Given the description of an element on the screen output the (x, y) to click on. 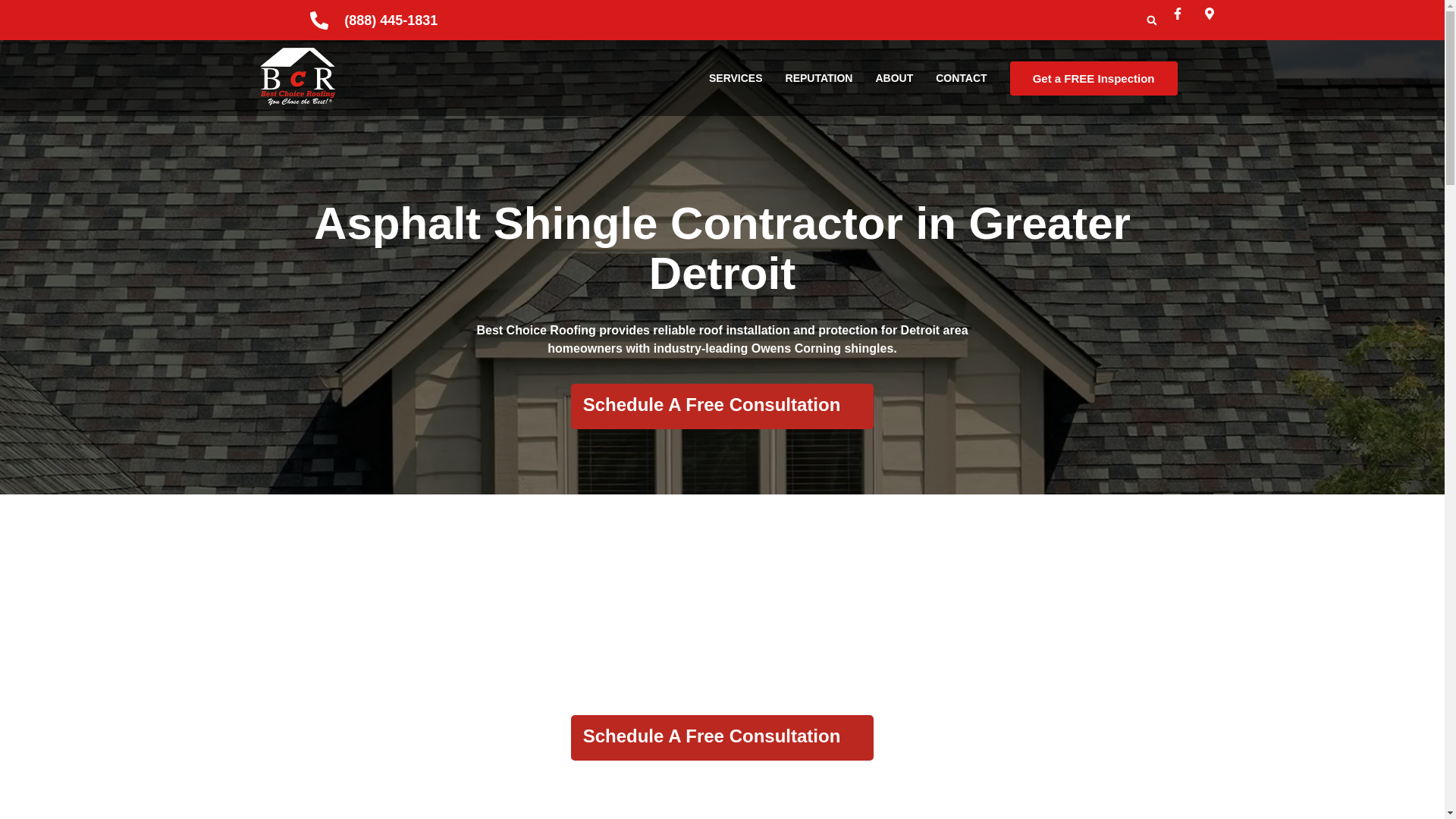
ABOUT (893, 77)
SERVICES (735, 77)
Get a FREE Inspection (1093, 77)
REPUTATION (819, 77)
Schedule a Free Consultation (722, 406)
CONTACT (961, 77)
Schedule a Free Consultation (722, 737)
